Given the description of an element on the screen output the (x, y) to click on. 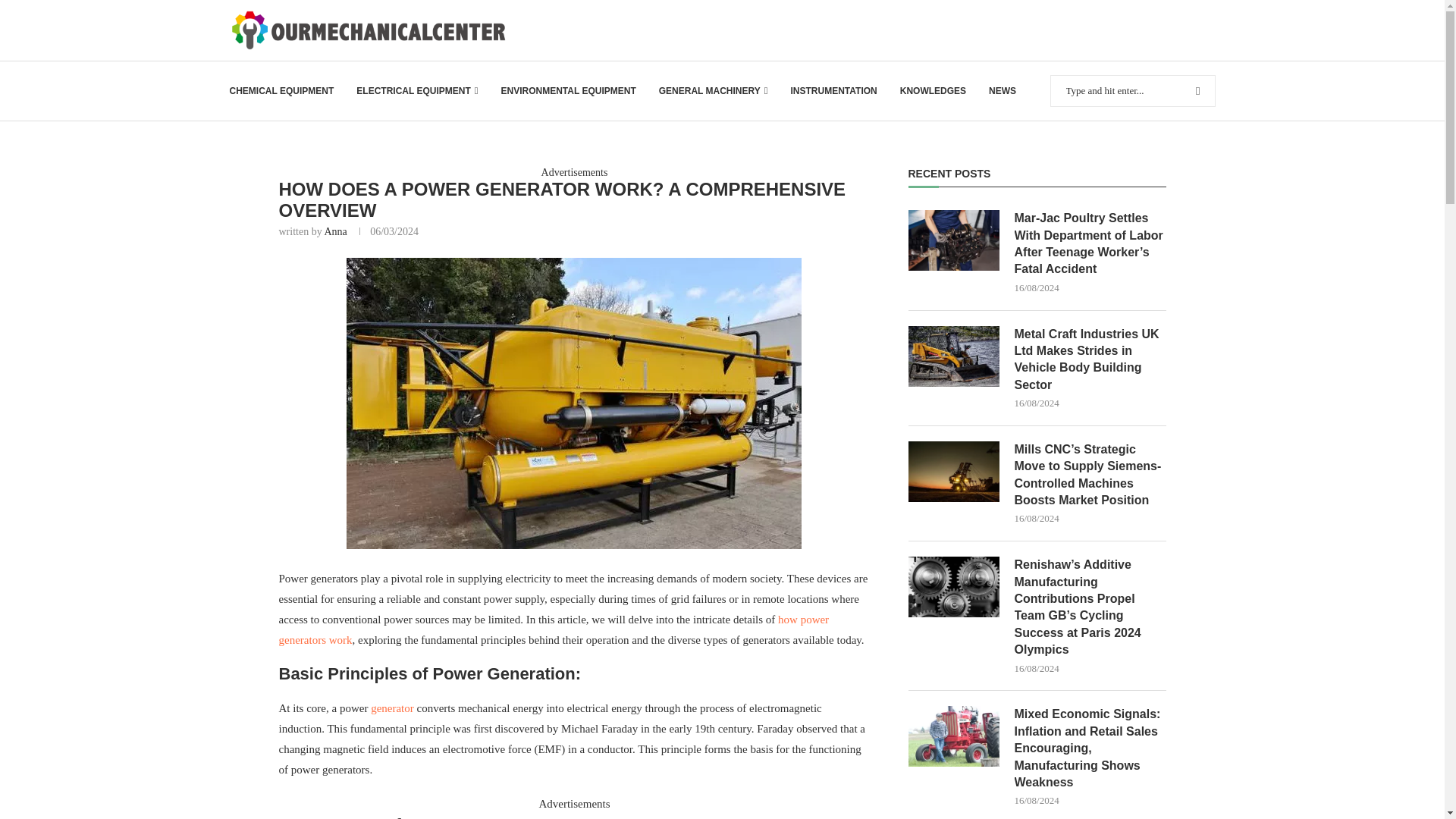
GENERAL MACHINERY (713, 90)
KNOWLEDGES (932, 90)
ELECTRICAL EQUIPMENT (416, 90)
generator111 (574, 402)
ENVIRONMENTAL EQUIPMENT (567, 90)
INSTRUMENTATION (833, 90)
CHEMICAL EQUIPMENT (280, 90)
